Given the description of an element on the screen output the (x, y) to click on. 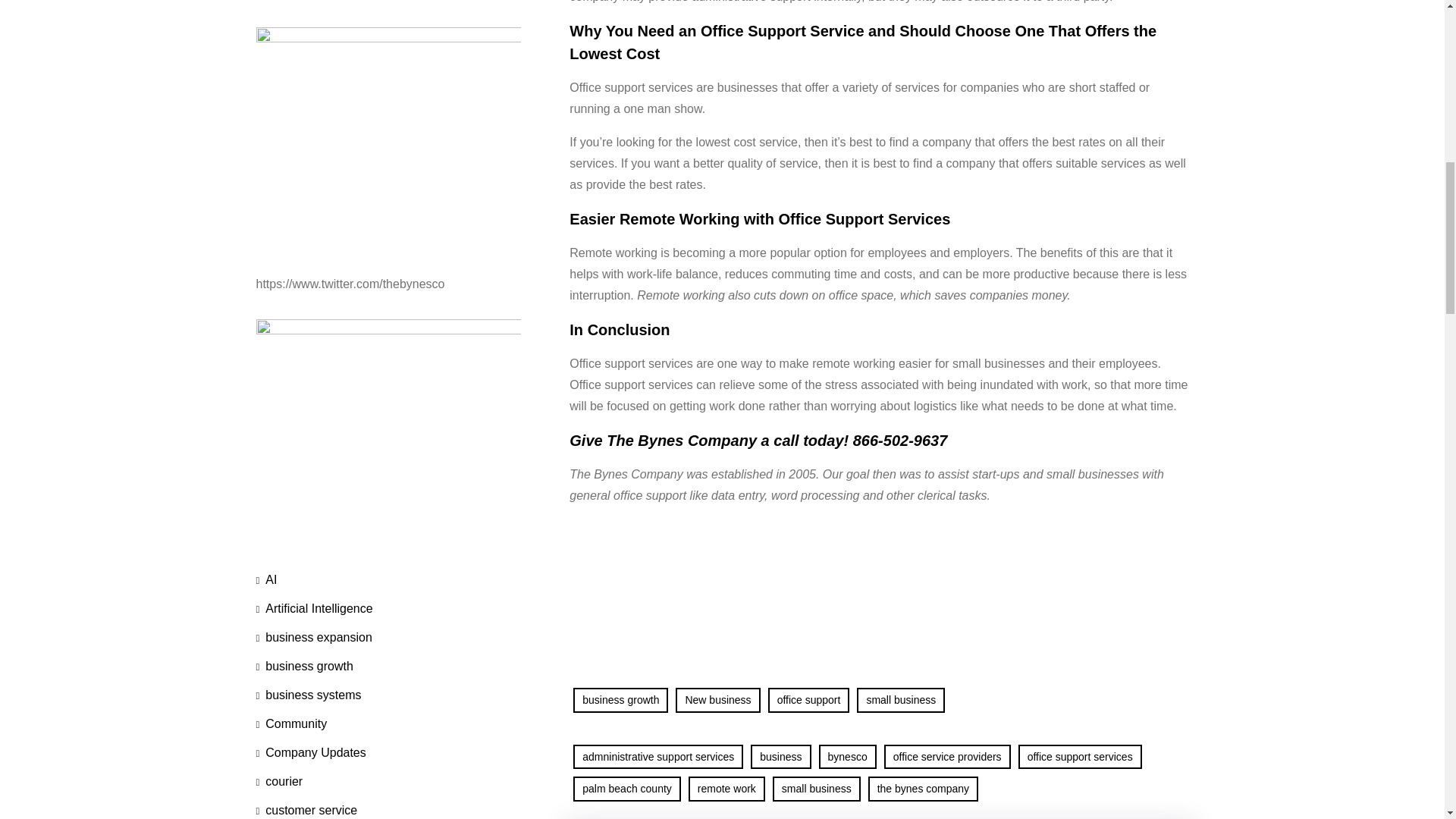
Community (291, 724)
business growth (304, 665)
Company Updates (311, 752)
business expansion (314, 637)
courier (279, 781)
customer service (307, 807)
Artificial Intelligence (314, 608)
business systems (308, 695)
